Given the description of an element on the screen output the (x, y) to click on. 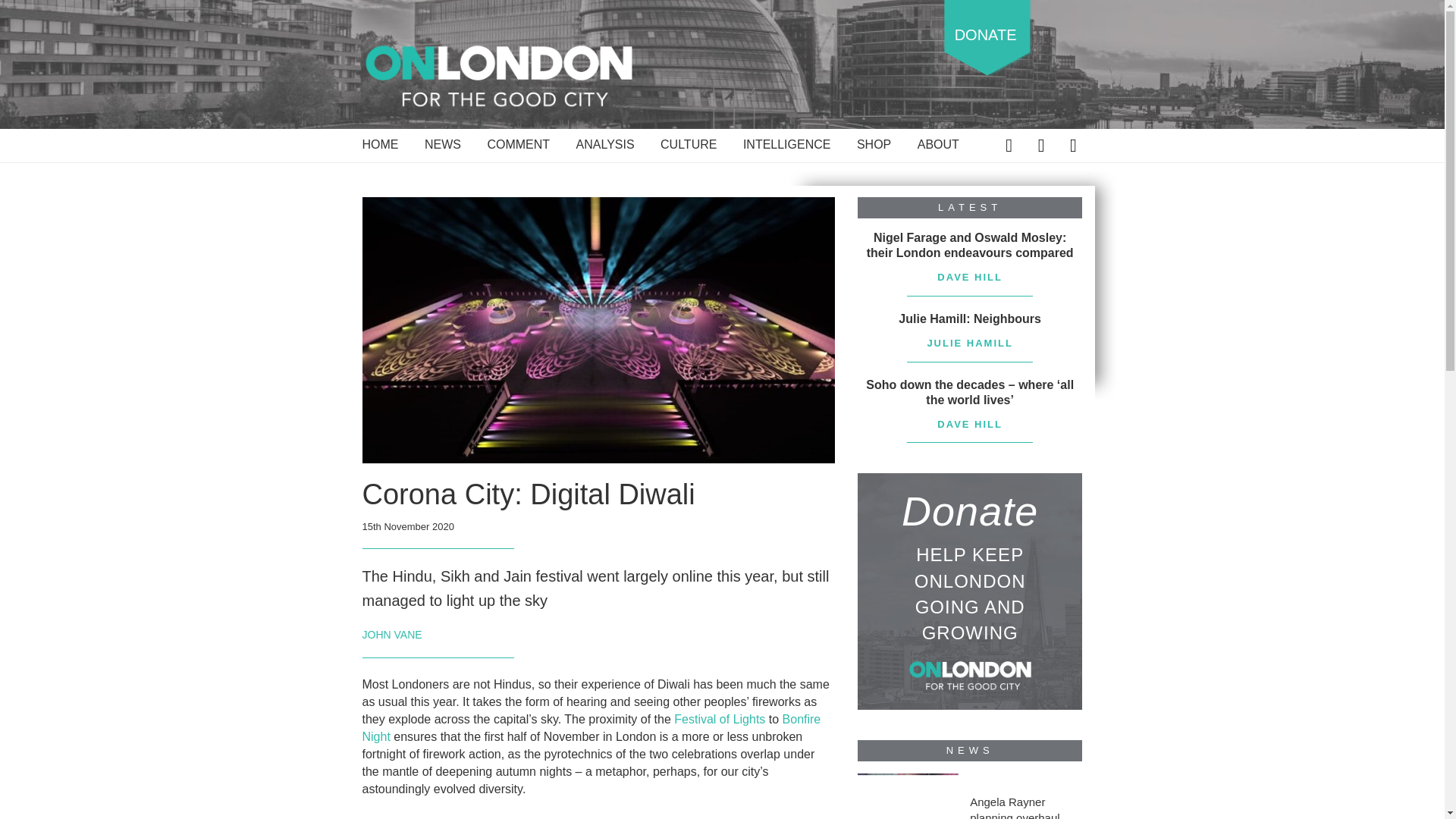
HOME (380, 147)
INTELLIGENCE (786, 147)
Bonfire Night (591, 727)
SHOP (874, 147)
NEWS (443, 147)
COMMENT (518, 147)
ANALYSIS (605, 147)
ABOUT (938, 147)
OnLondon - For The Good City (498, 74)
JOHN VANE (392, 634)
DONATE (985, 38)
Festival of Lights (719, 718)
CULTURE (688, 147)
